Given the description of an element on the screen output the (x, y) to click on. 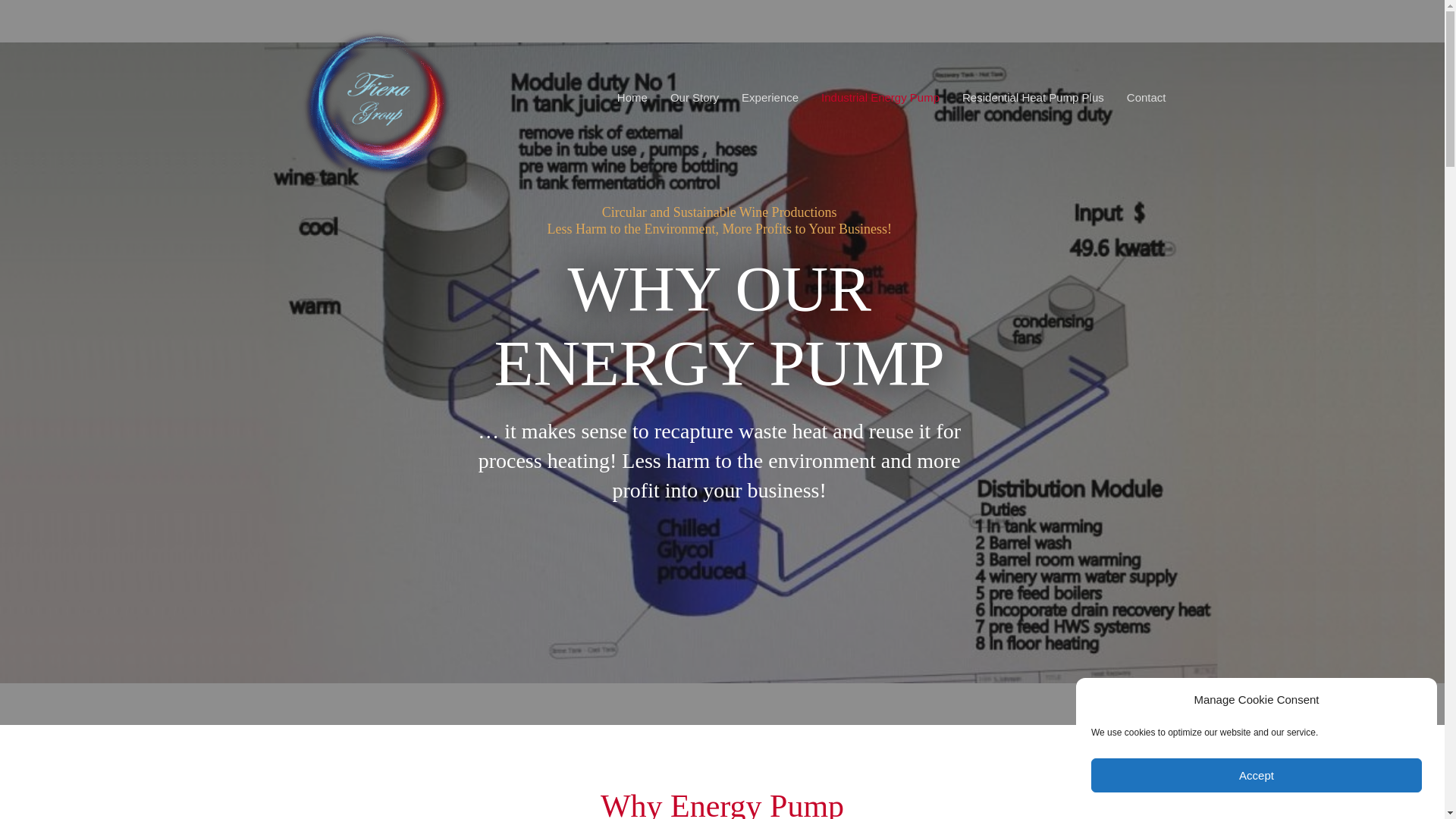
Residential Heat Pump Plus Element type: text (1032, 96)
Home Element type: text (631, 96)
Our Story Element type: text (694, 96)
Industrial Energy Pump Element type: text (879, 96)
Contact Element type: text (1146, 96)
Experience Element type: text (769, 96)
Accept Element type: text (1256, 775)
